Given the description of an element on the screen output the (x, y) to click on. 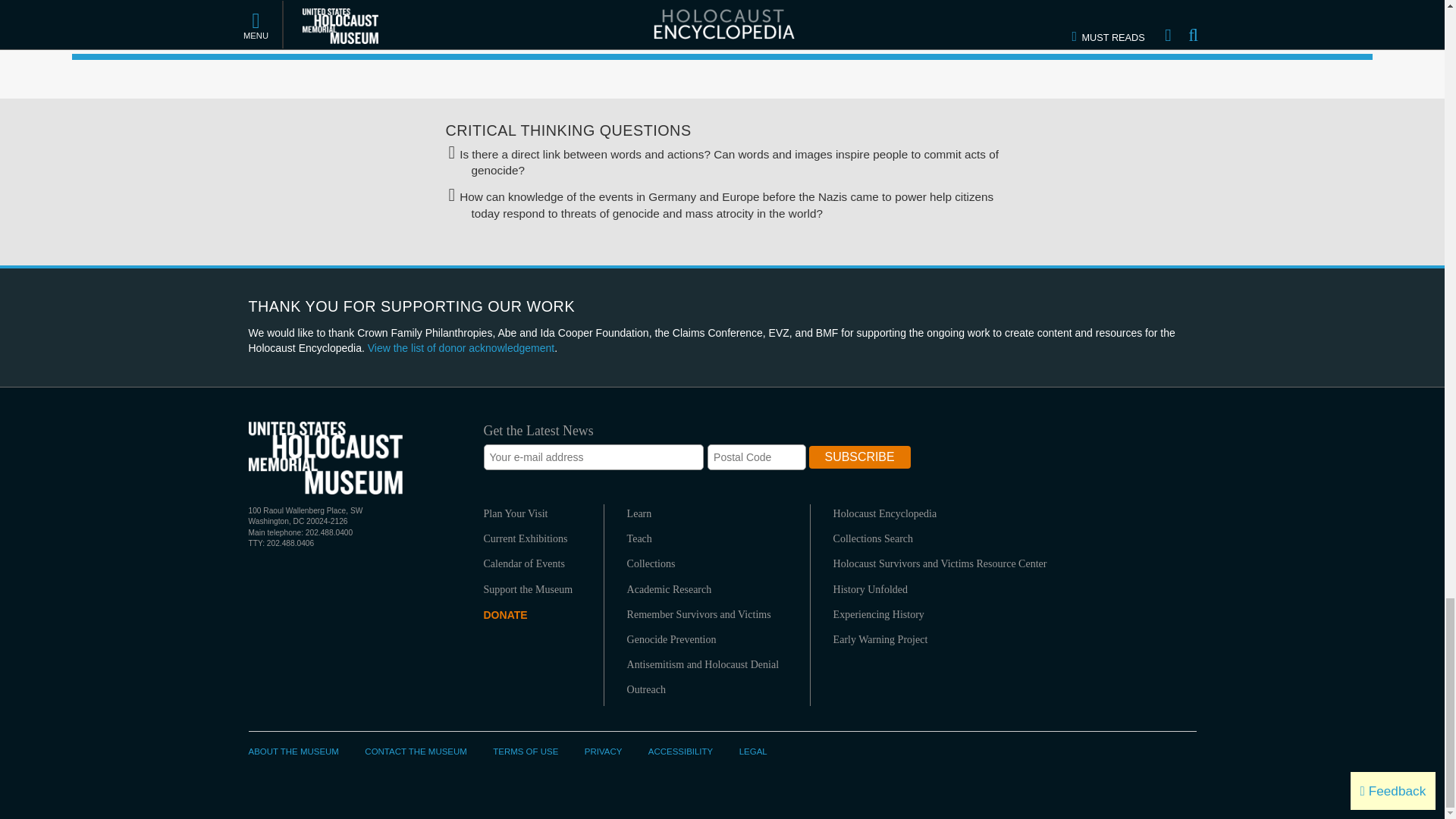
Subscribe (860, 456)
